Given the description of an element on the screen output the (x, y) to click on. 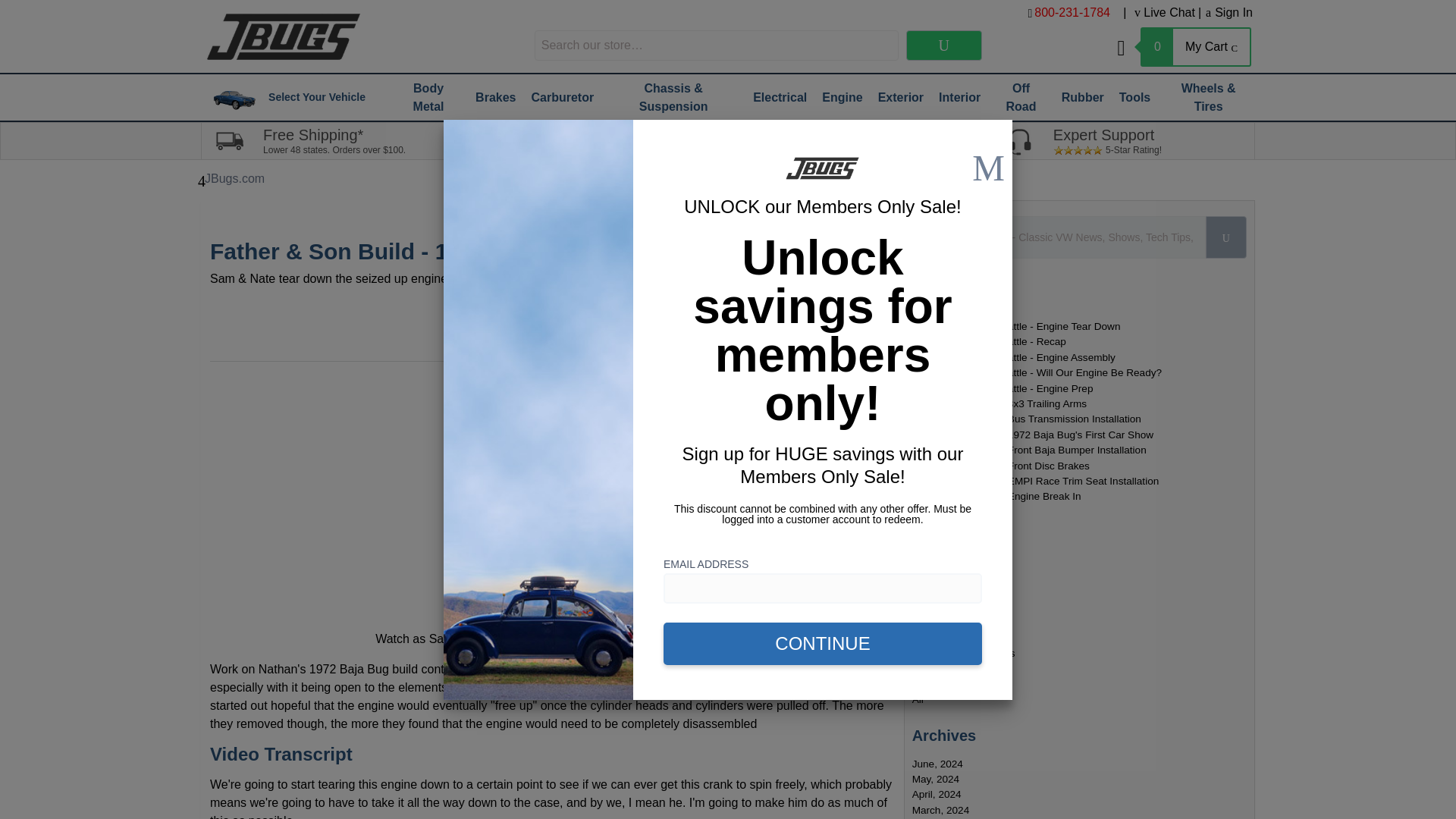
Free Shipping (229, 141)
Search (943, 45)
Sign In (1228, 11)
Ready to Ship (494, 139)
0My Cart (1183, 46)
Brakes (495, 97)
JBugs Desktop Mobile Logo (284, 36)
Expert Support (1019, 141)
Body Metal (428, 97)
Tutorial Videos (756, 141)
Choose Your Vehicle (234, 96)
